Given the description of an element on the screen output the (x, y) to click on. 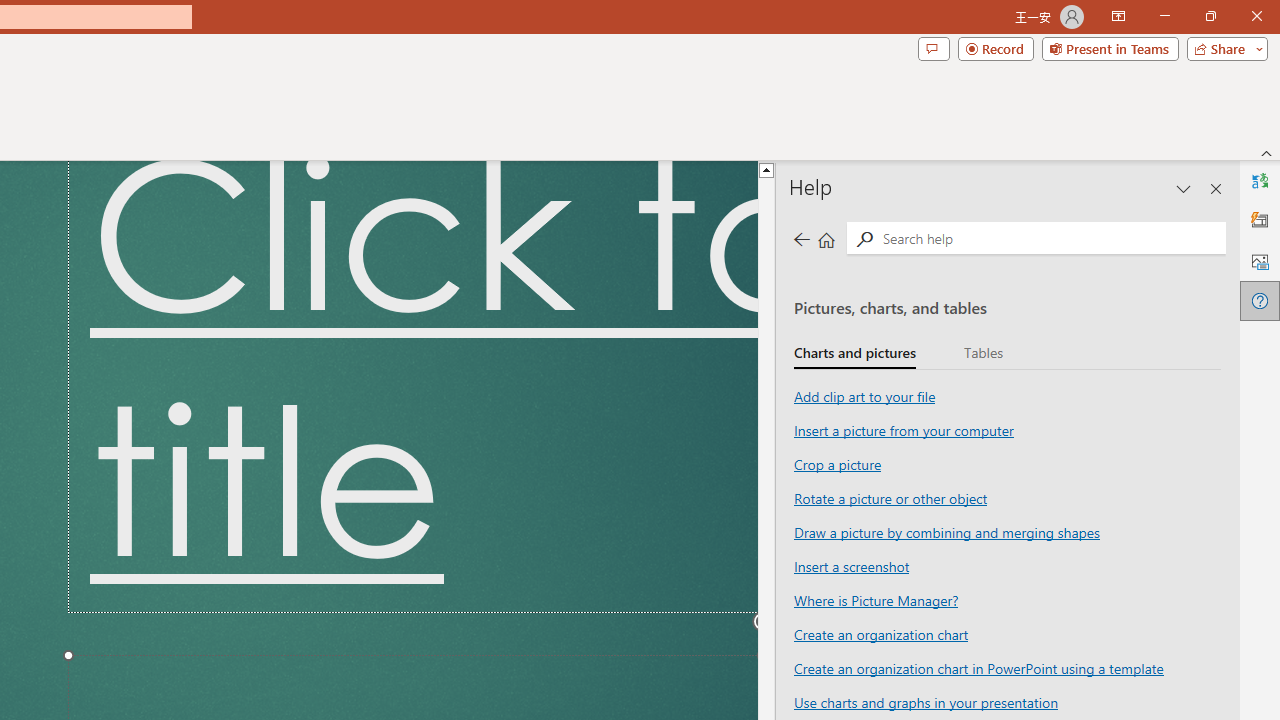
Crop a picture (836, 464)
Previous page (801, 238)
Insert a picture from your computer (903, 430)
Insert a screenshot (850, 566)
